Given the description of an element on the screen output the (x, y) to click on. 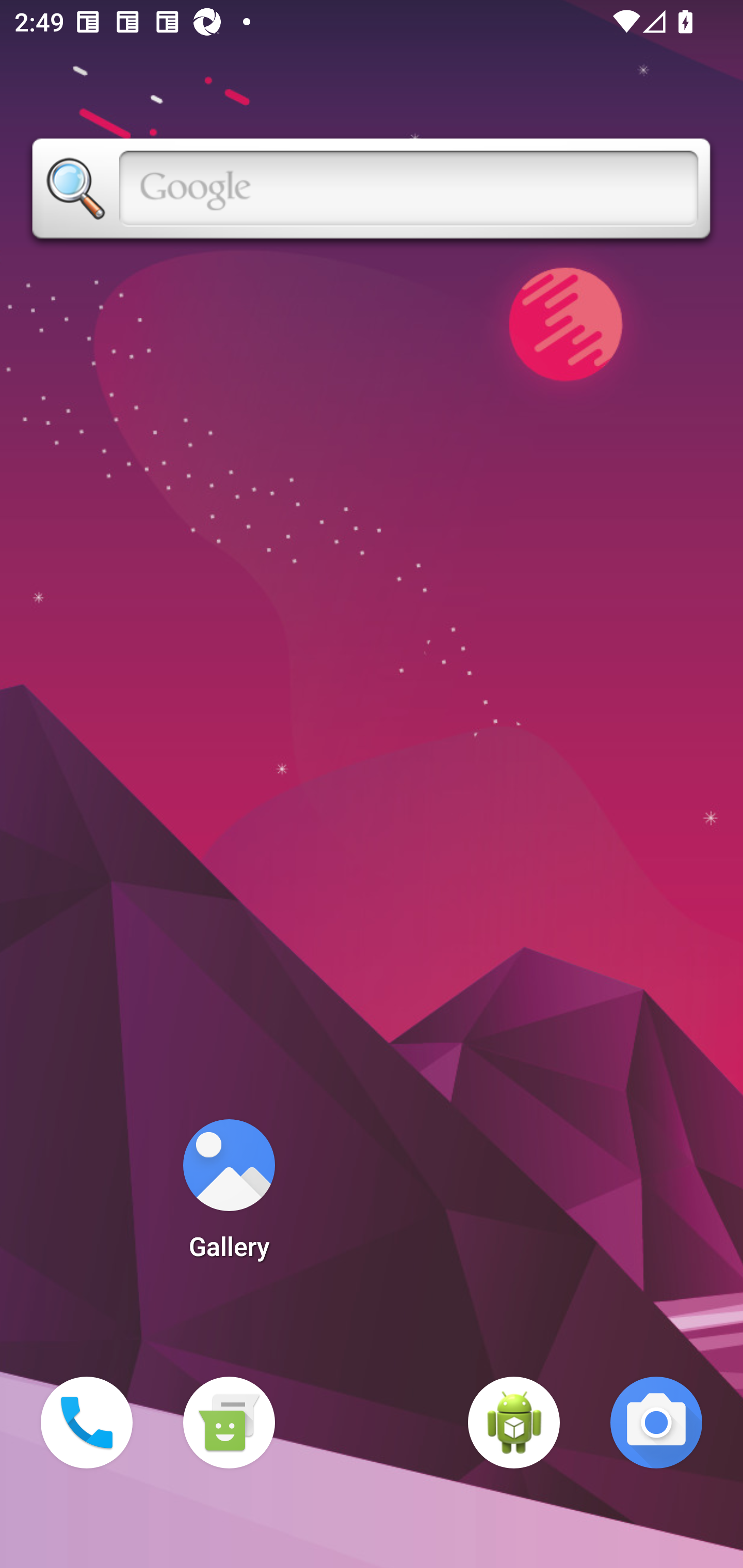
Gallery (228, 1195)
Phone (86, 1422)
Messaging (228, 1422)
WebView Browser Tester (513, 1422)
Camera (656, 1422)
